Given the description of an element on the screen output the (x, y) to click on. 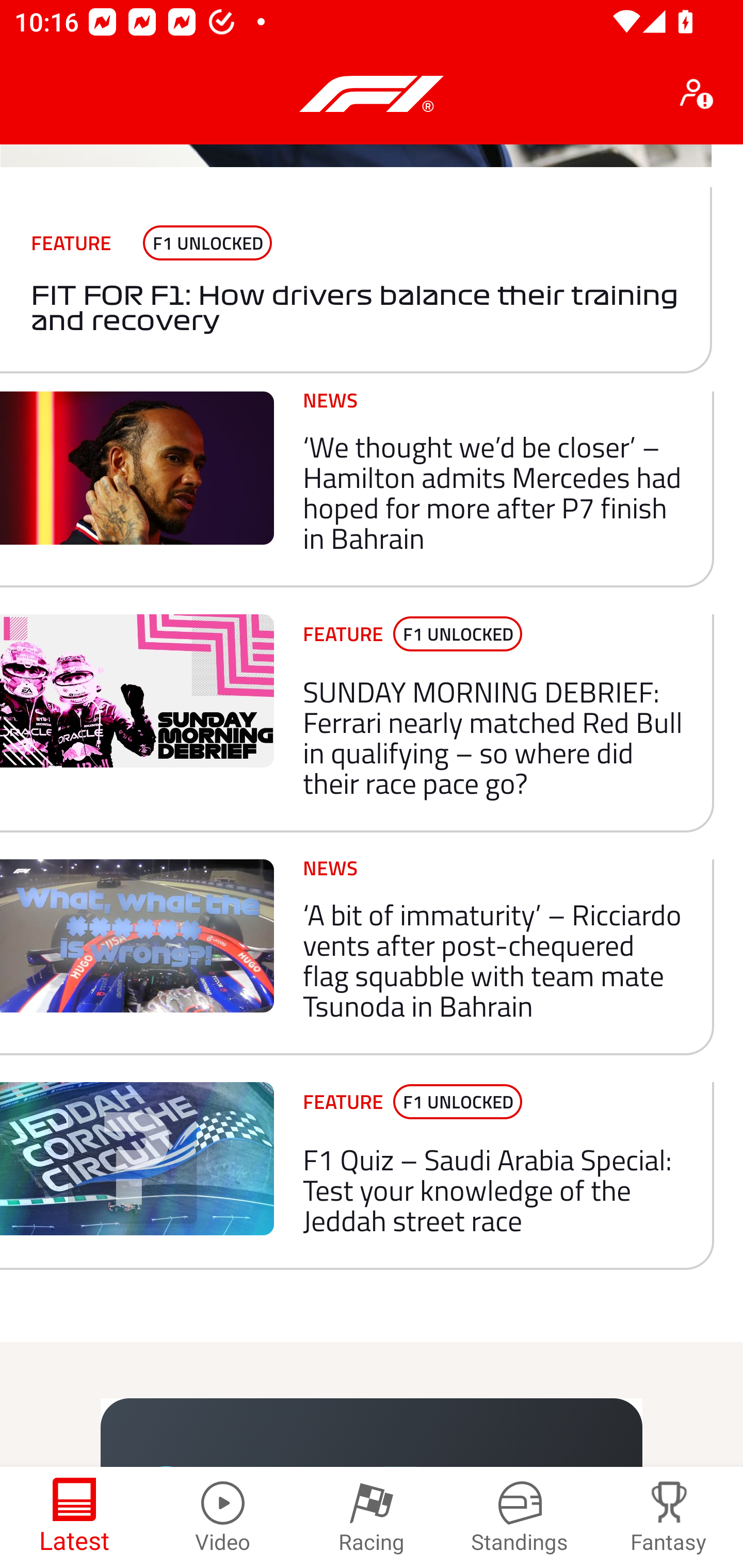
Video (222, 1517)
Racing (371, 1517)
Standings (519, 1517)
Fantasy (668, 1517)
